Given the description of an element on the screen output the (x, y) to click on. 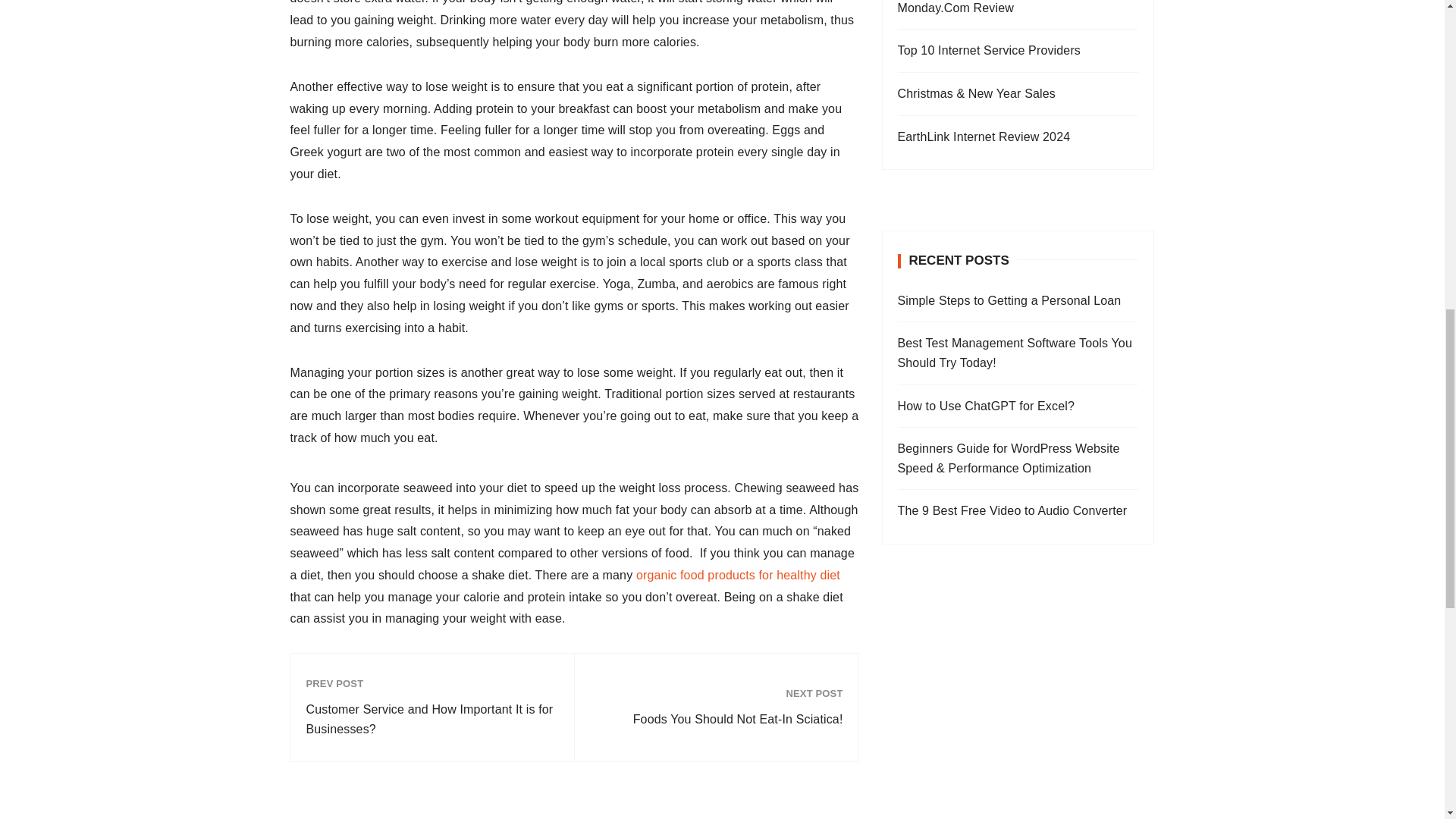
Foods You Should Not Eat-In Sciatica! (716, 719)
organic food products for healthy diet (738, 574)
Customer Service and How Important It is for Businesses? (432, 719)
